Given the description of an element on the screen output the (x, y) to click on. 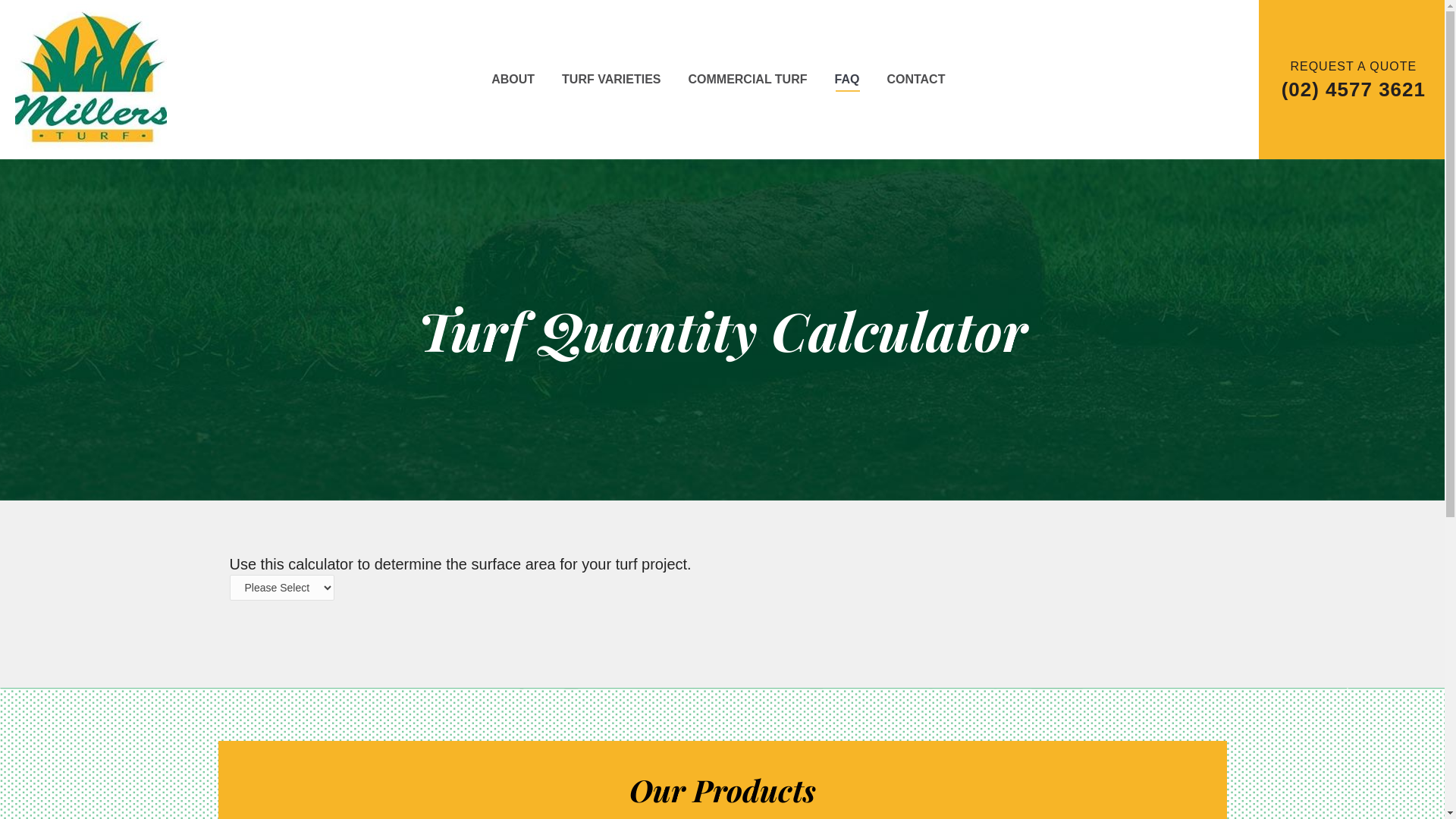
CONTACT Element type: text (915, 79)
FAQ Element type: text (846, 79)
(02) 4577 3621 Element type: text (1353, 89)
TURF VARIETIES Element type: text (610, 79)
ABOUT Element type: text (512, 79)
COMMERCIAL TURF Element type: text (746, 79)
